Given the description of an element on the screen output the (x, y) to click on. 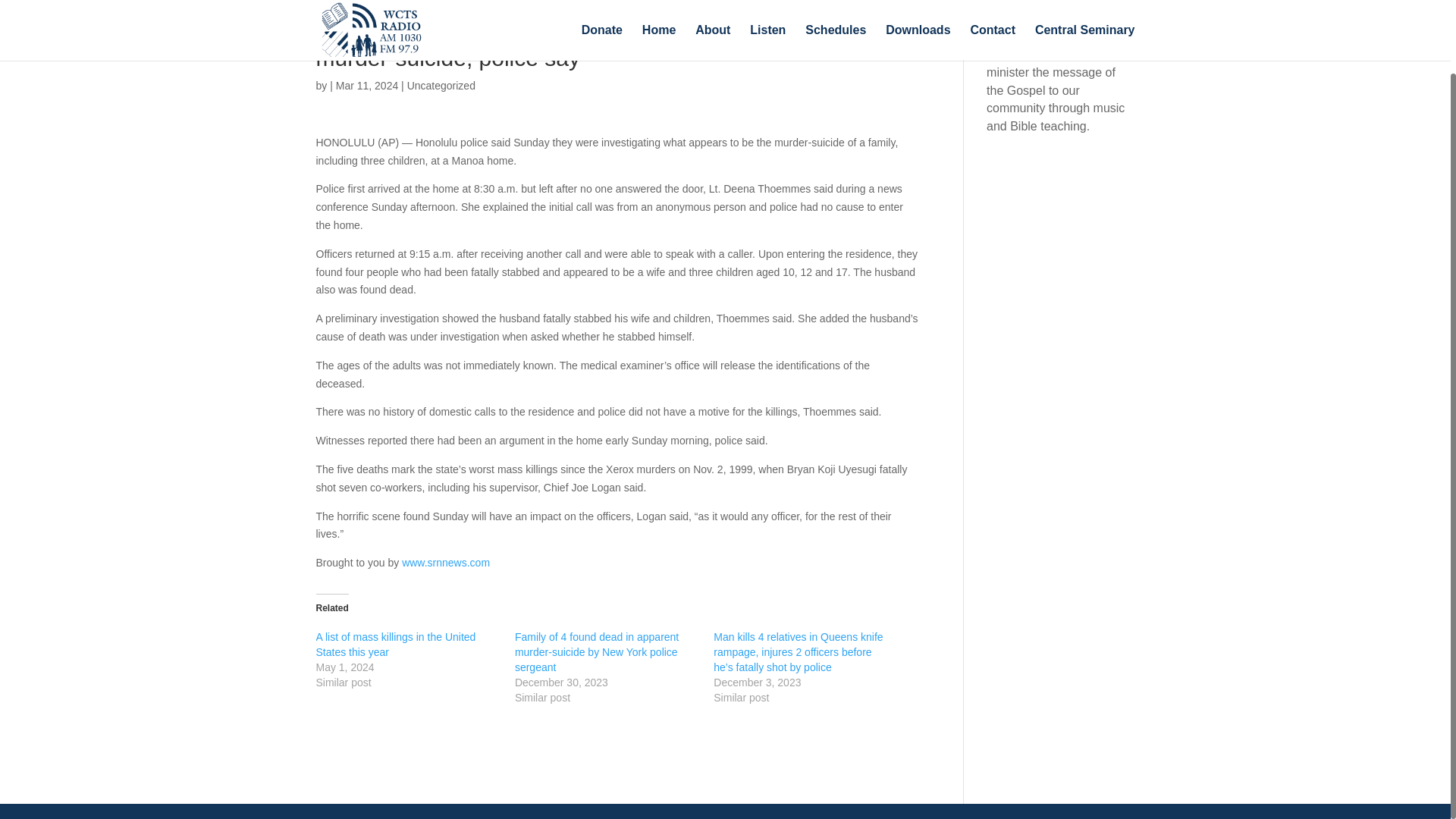
Uncategorized (441, 85)
A list of mass killings in the United States this year (395, 644)
A list of mass killings in the United States this year (395, 644)
www.srnnews.com (445, 562)
